Given the description of an element on the screen output the (x, y) to click on. 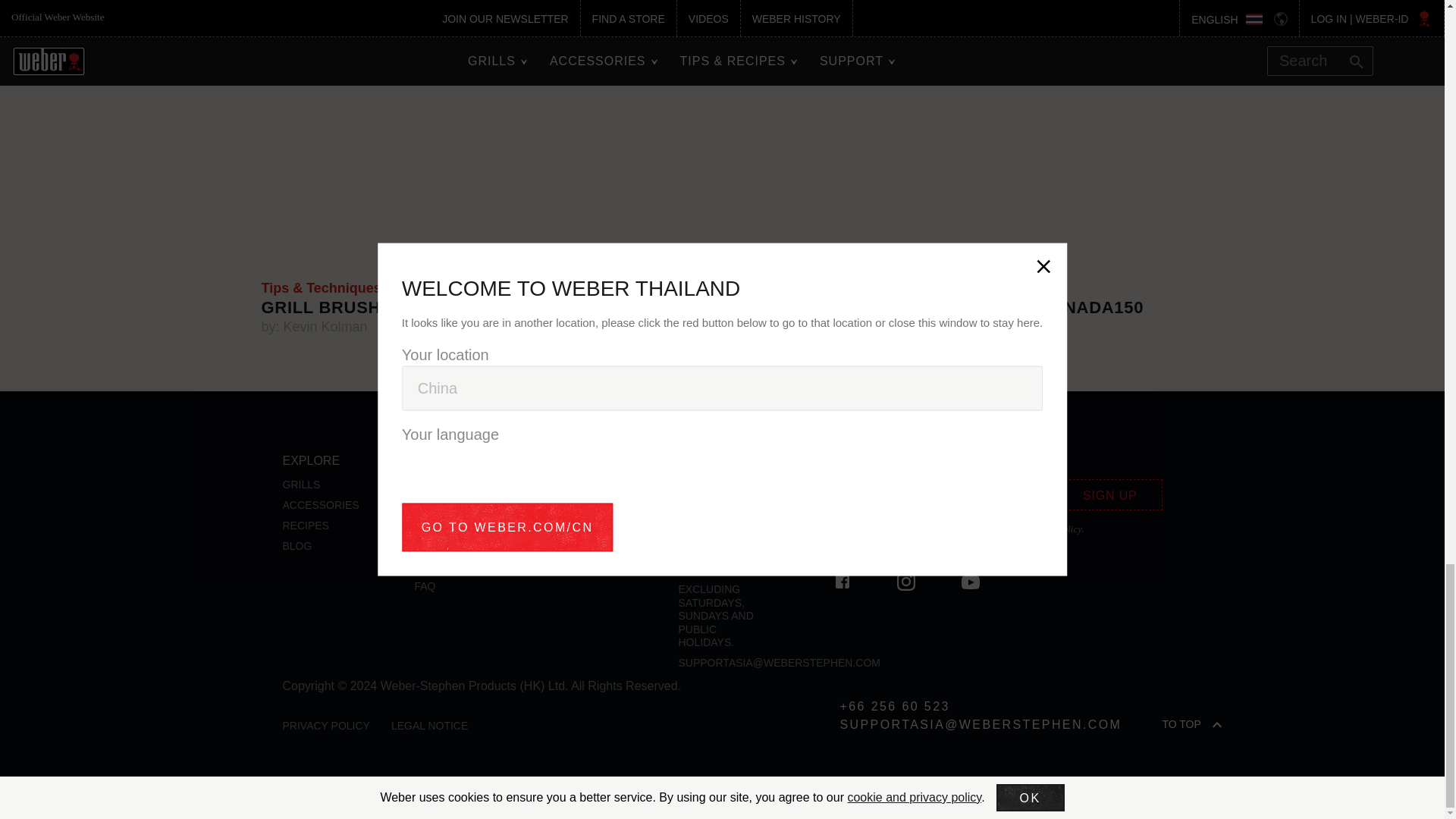
TO TOP (1237, 723)
